Given the description of an element on the screen output the (x, y) to click on. 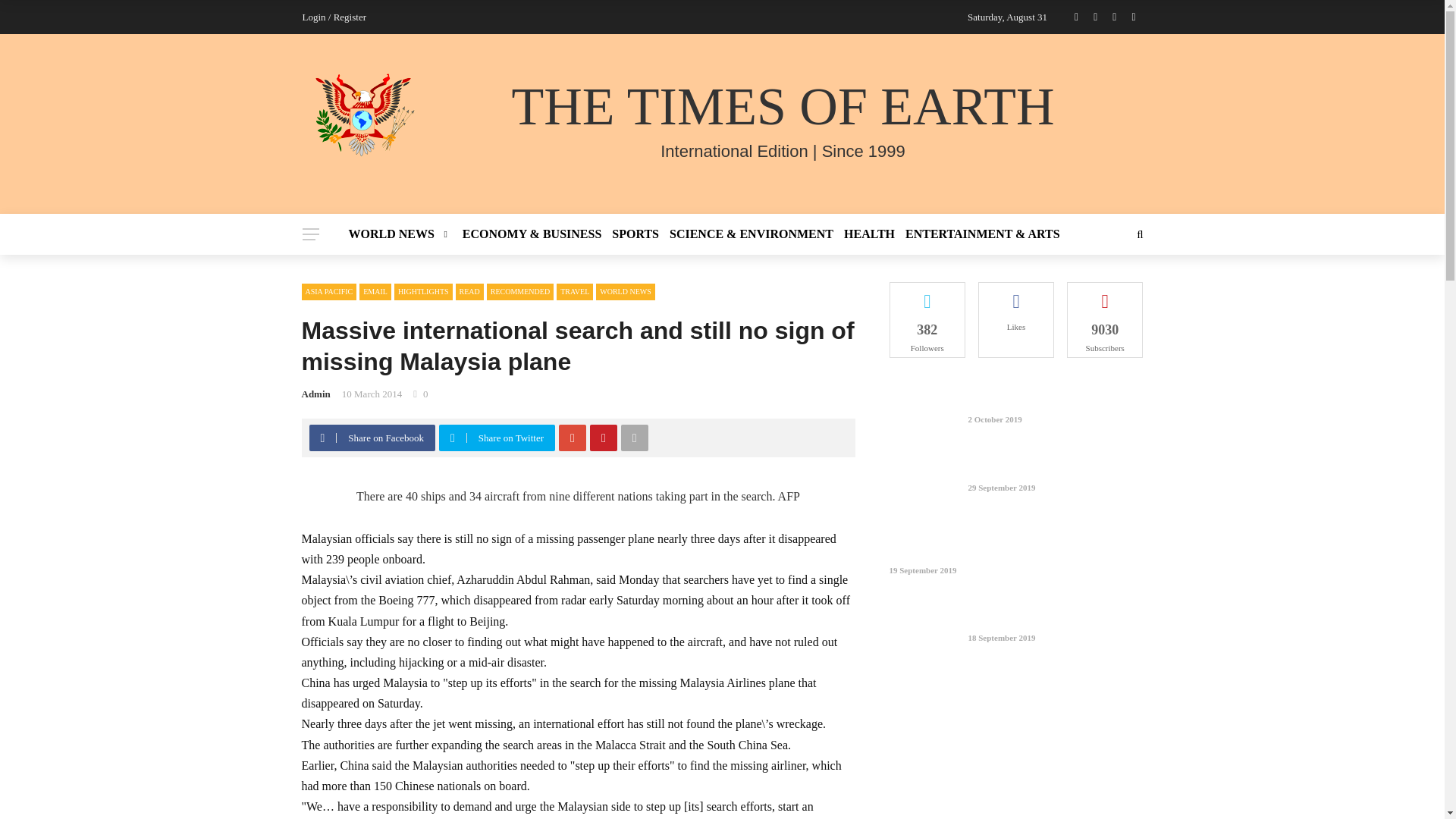
HEALTH (868, 233)
SPORTS (635, 233)
WORLD NEWS (403, 233)
